Given the description of an element on the screen output the (x, y) to click on. 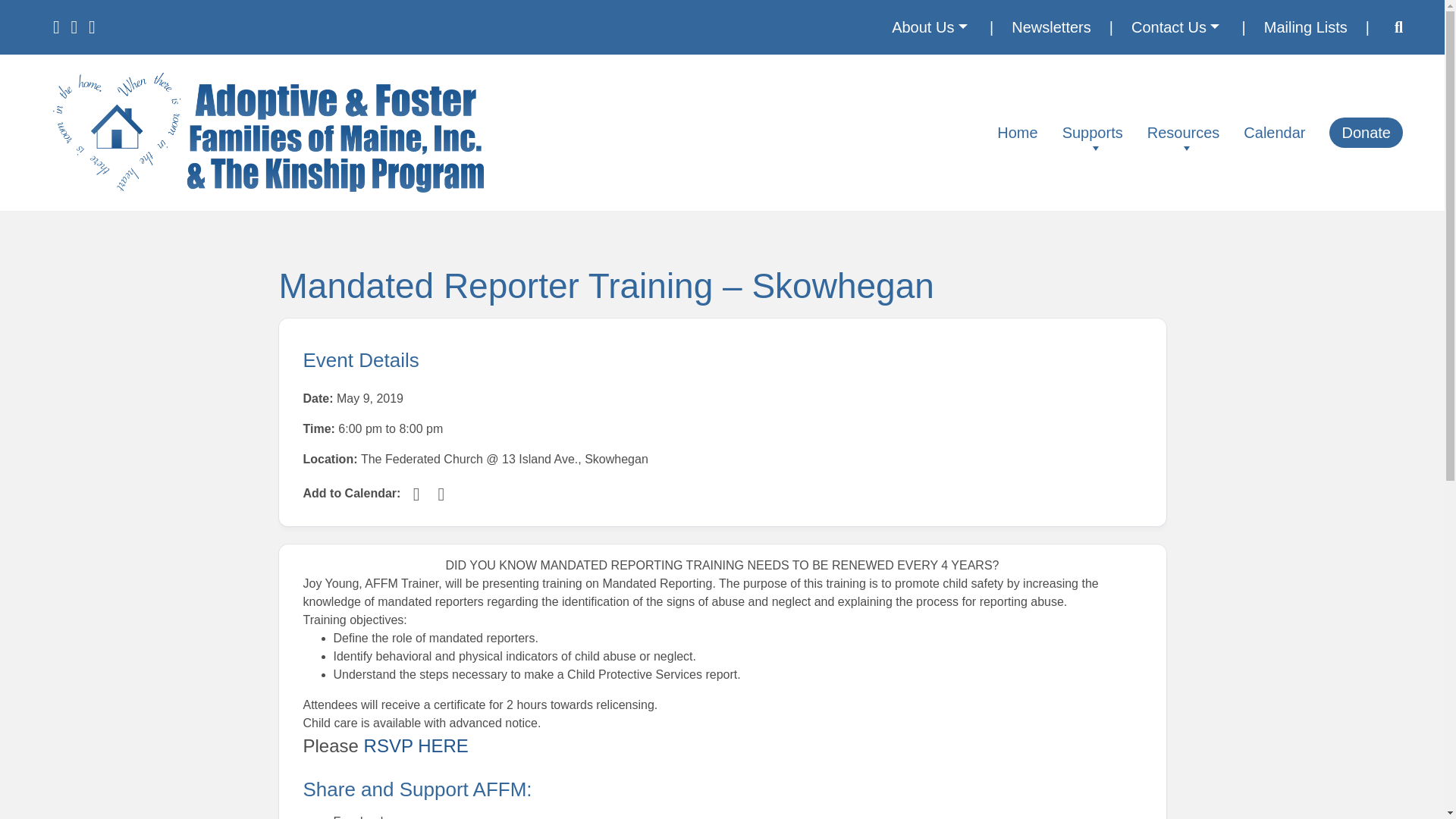
2019-05-09T18:00:00 (359, 428)
Mailing Lists (1305, 27)
2019-05-09T20:00:00 (420, 428)
Contact Us (1175, 27)
Click to share on Facebook (360, 816)
About Us (928, 27)
Contact Us (1175, 27)
Donate (1366, 132)
About Us (928, 27)
Resources (1183, 132)
Newsletters (1050, 27)
Newsletters (1050, 27)
Home (1017, 132)
Supports (1092, 132)
Mailing Lists (1305, 27)
